Given the description of an element on the screen output the (x, y) to click on. 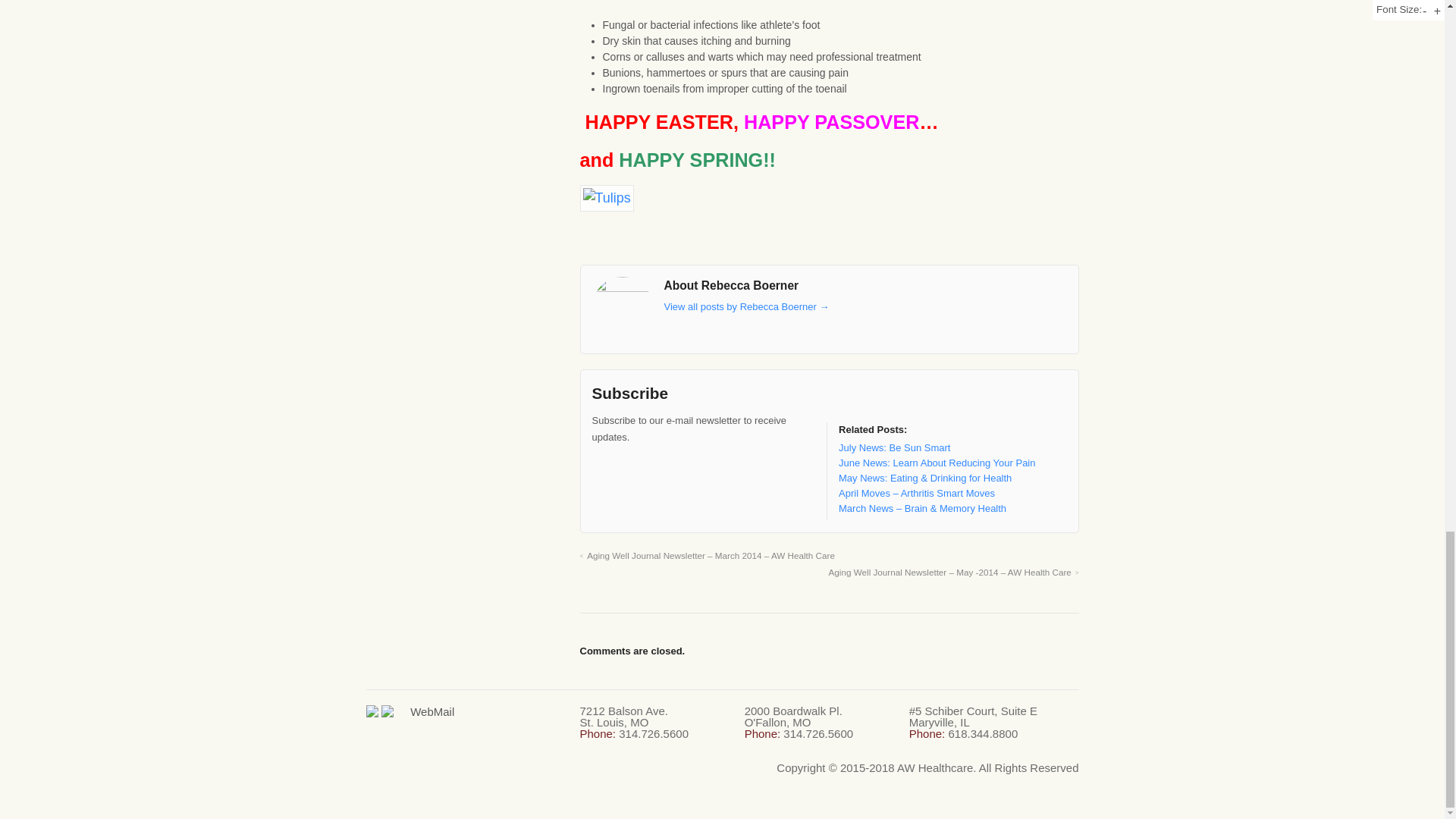
Facebook (628, 465)
RSS (602, 465)
July News: Be Sun Smart (894, 447)
June News: Learn About Reducing Your Pain (936, 462)
July News: Be Sun Smart (894, 447)
June News: Learn About Reducing Your Pain (936, 462)
